Given the description of an element on the screen output the (x, y) to click on. 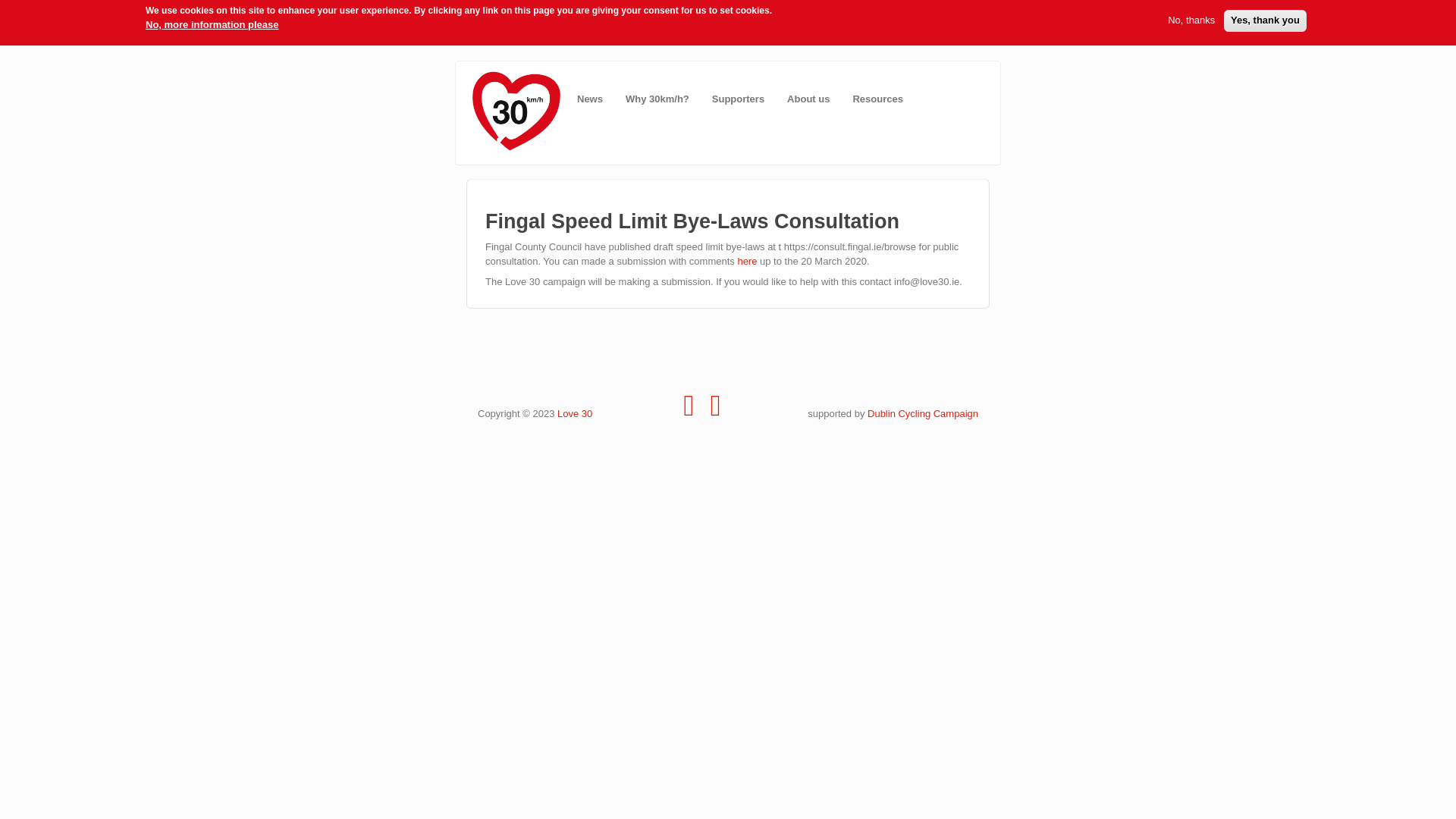
here (748, 260)
Resources (877, 99)
Dublin Cycling Campaign (922, 413)
No, more information please (212, 25)
About us (808, 99)
Yes, thank you (1265, 20)
Resources for campaigners (877, 99)
No, thanks (1191, 20)
Supporters (738, 99)
